Given the description of an element on the screen output the (x, y) to click on. 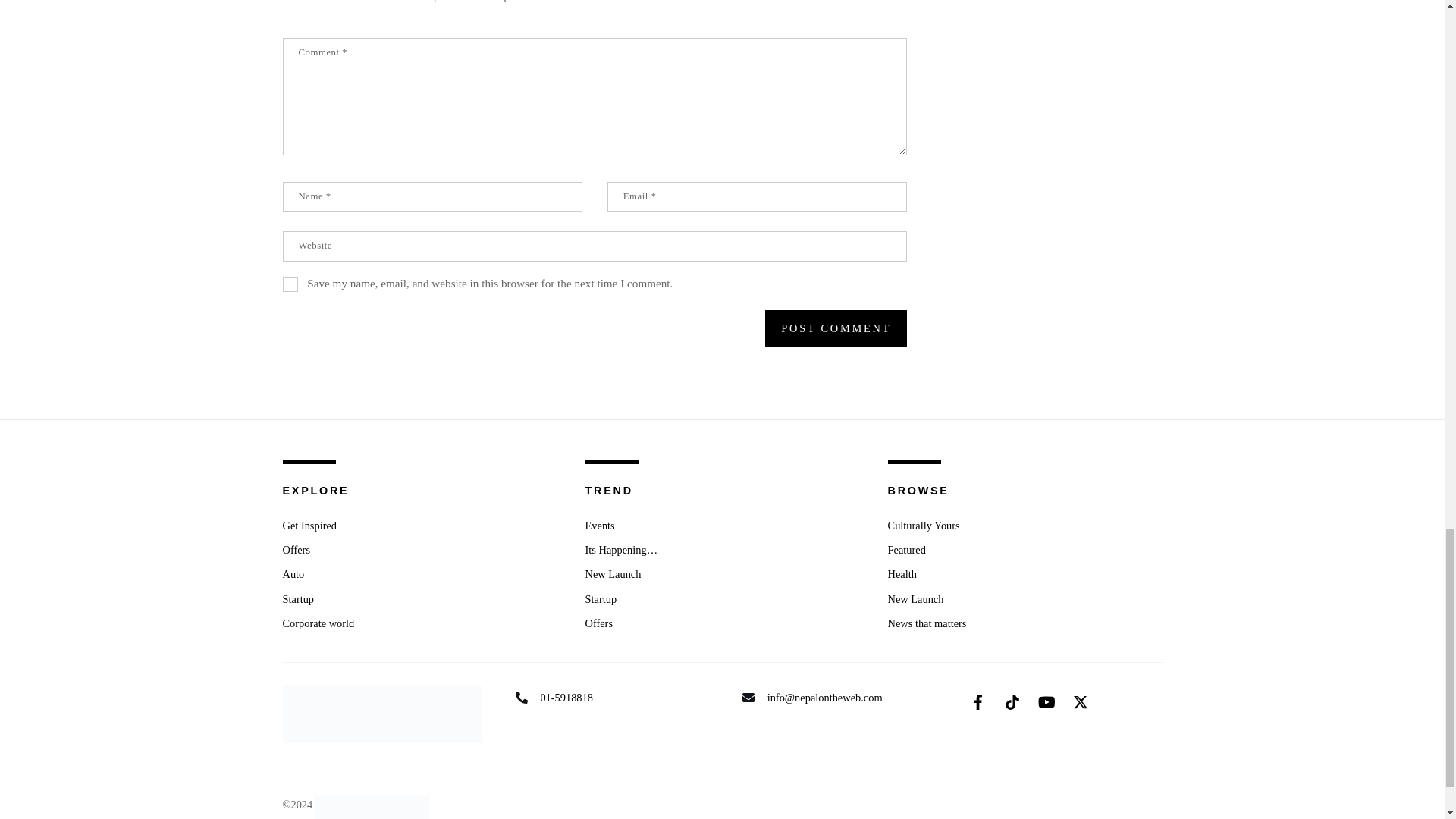
yes (290, 284)
PlutonicTech (372, 804)
Post Comment (836, 328)
logo (381, 713)
Post Comment (836, 328)
Plutonic Logo (372, 806)
